Given the description of an element on the screen output the (x, y) to click on. 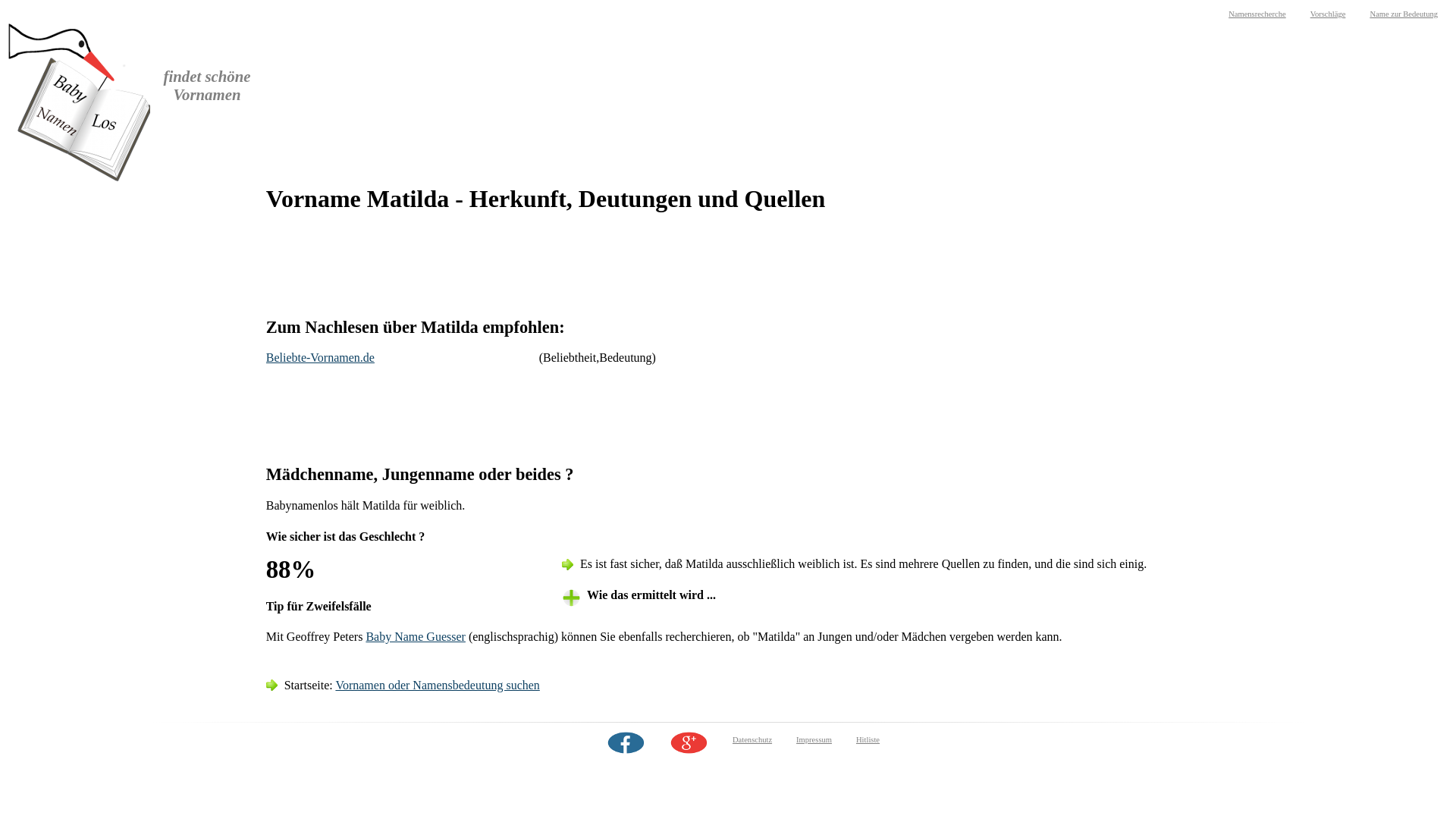
Datenschutz Element type: text (751, 739)
Hitliste Element type: text (867, 739)
Vornamen oder Namensbedeutung suchen Element type: text (437, 684)
Namensrecherche Element type: text (1257, 13)
Beliebte-Vornamen.de Element type: text (320, 357)
Name zur Bedeutung Element type: text (1403, 13)
Baby Name Guesser Element type: text (415, 636)
Impressum Element type: text (813, 739)
